Given the description of an element on the screen output the (x, y) to click on. 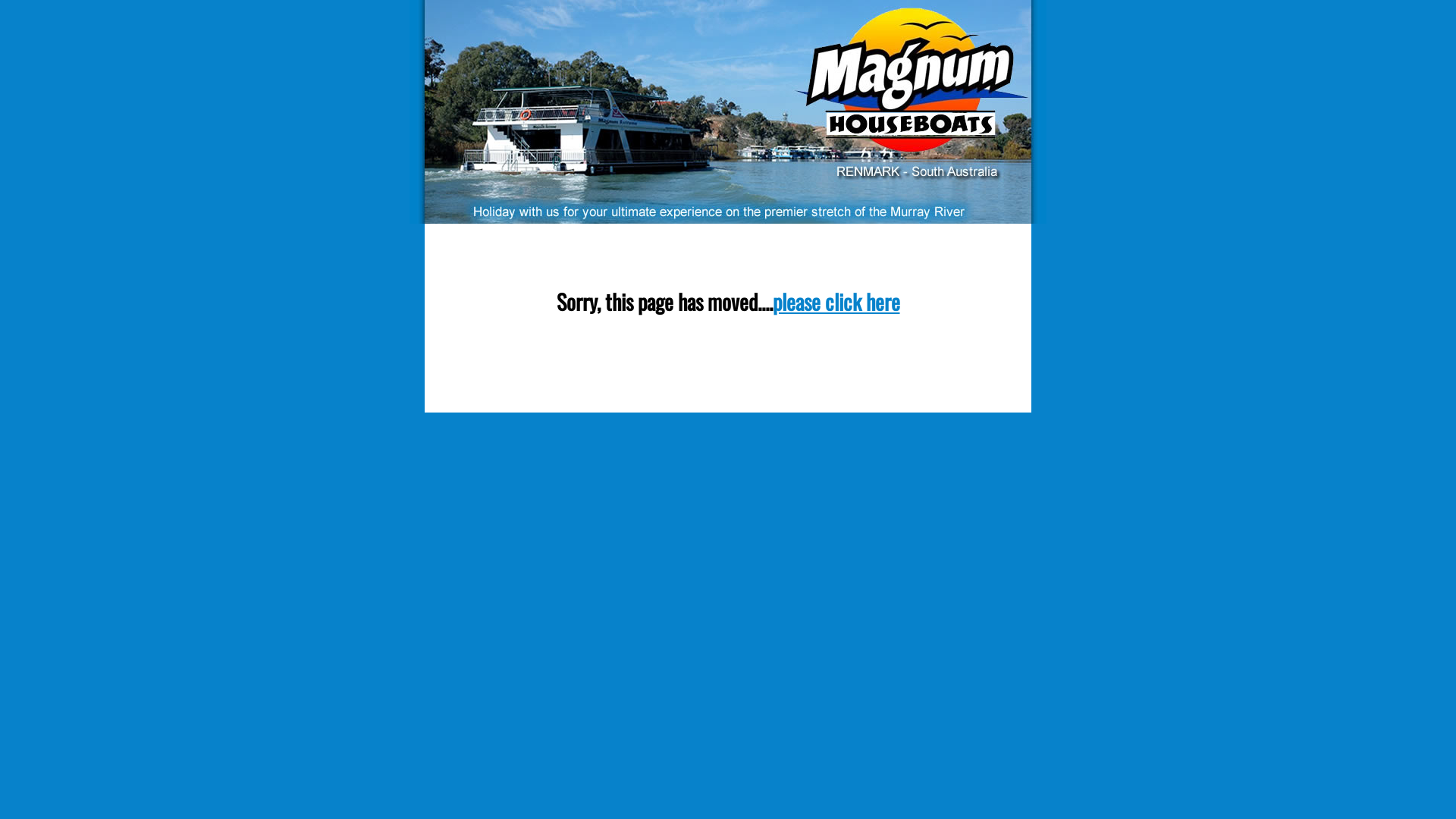
please click here Element type: text (835, 300)
